Given the description of an element on the screen output the (x, y) to click on. 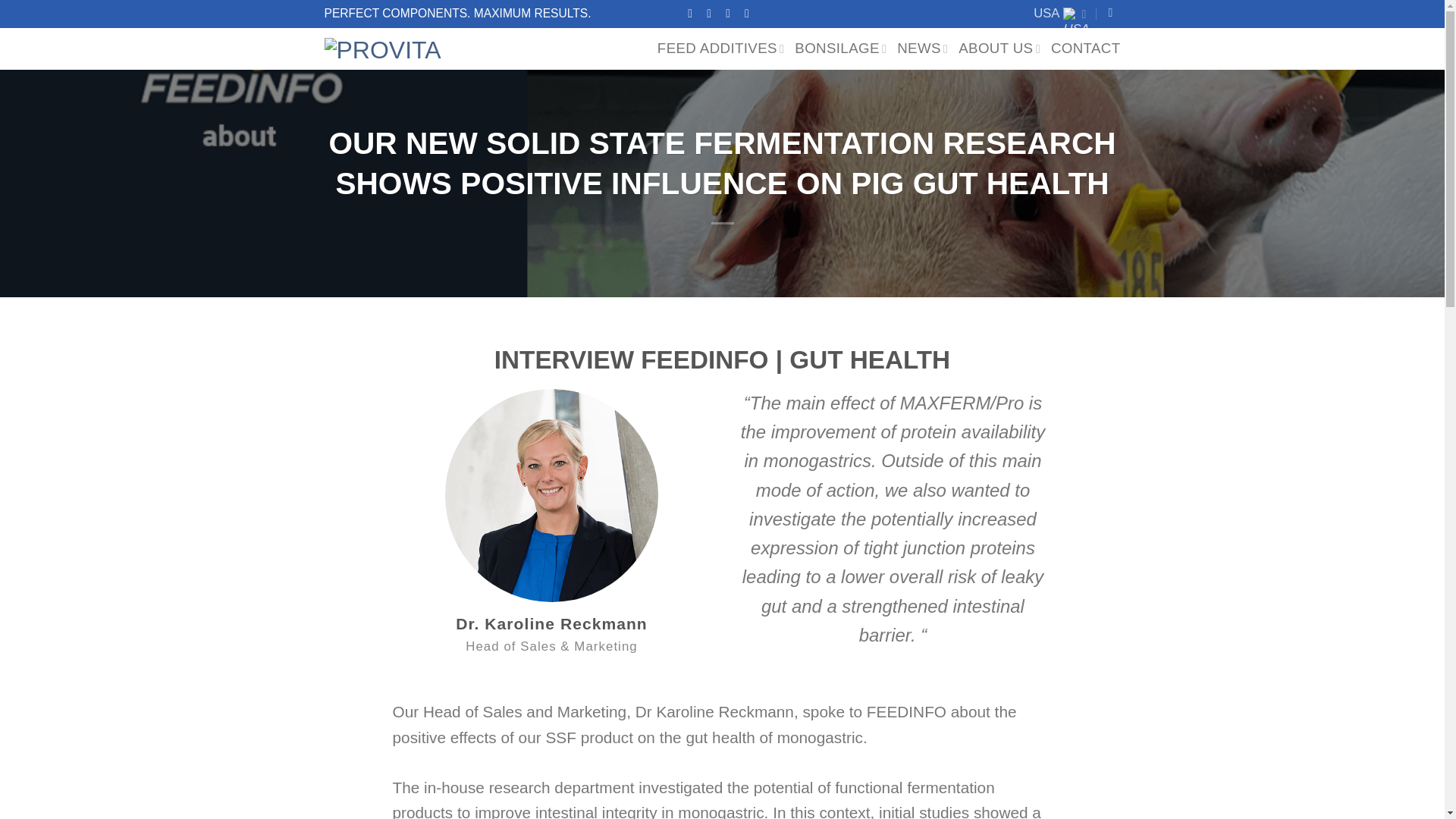
FEED ADDITIVES (721, 48)
Follow on Instagram (712, 12)
BONSILAGE (840, 48)
Send us an email (731, 12)
Follow on LinkedIn (750, 12)
USA (1059, 13)
Follow on Facebook (693, 12)
